Given the description of an element on the screen output the (x, y) to click on. 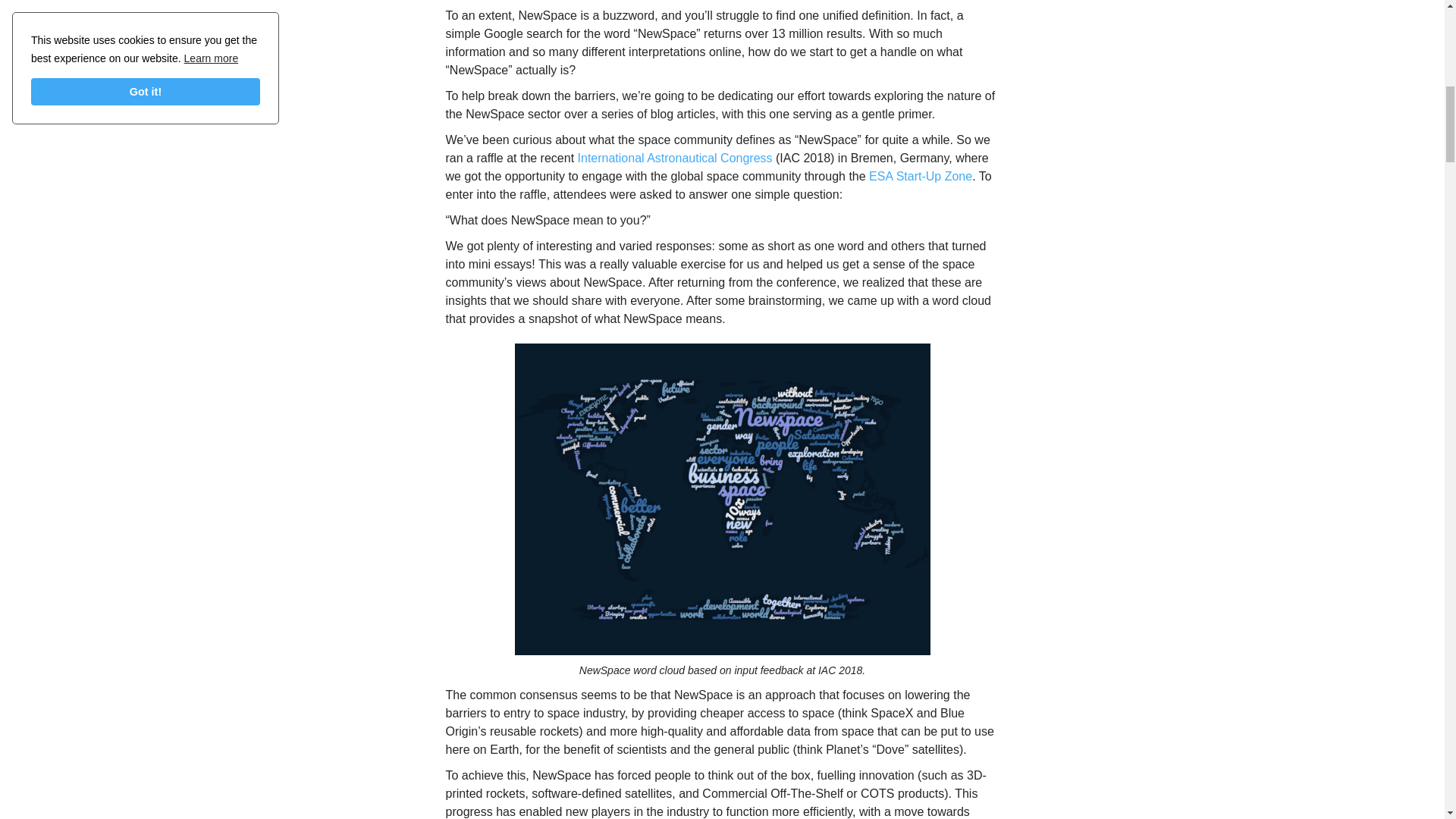
69th International Astronautical Congress (675, 157)
ESA's Start-up Space Zone Powered by Space Solutions (920, 175)
International Astronautical Congress (675, 157)
ESA Start-Up Zone (920, 175)
